Given the description of an element on the screen output the (x, y) to click on. 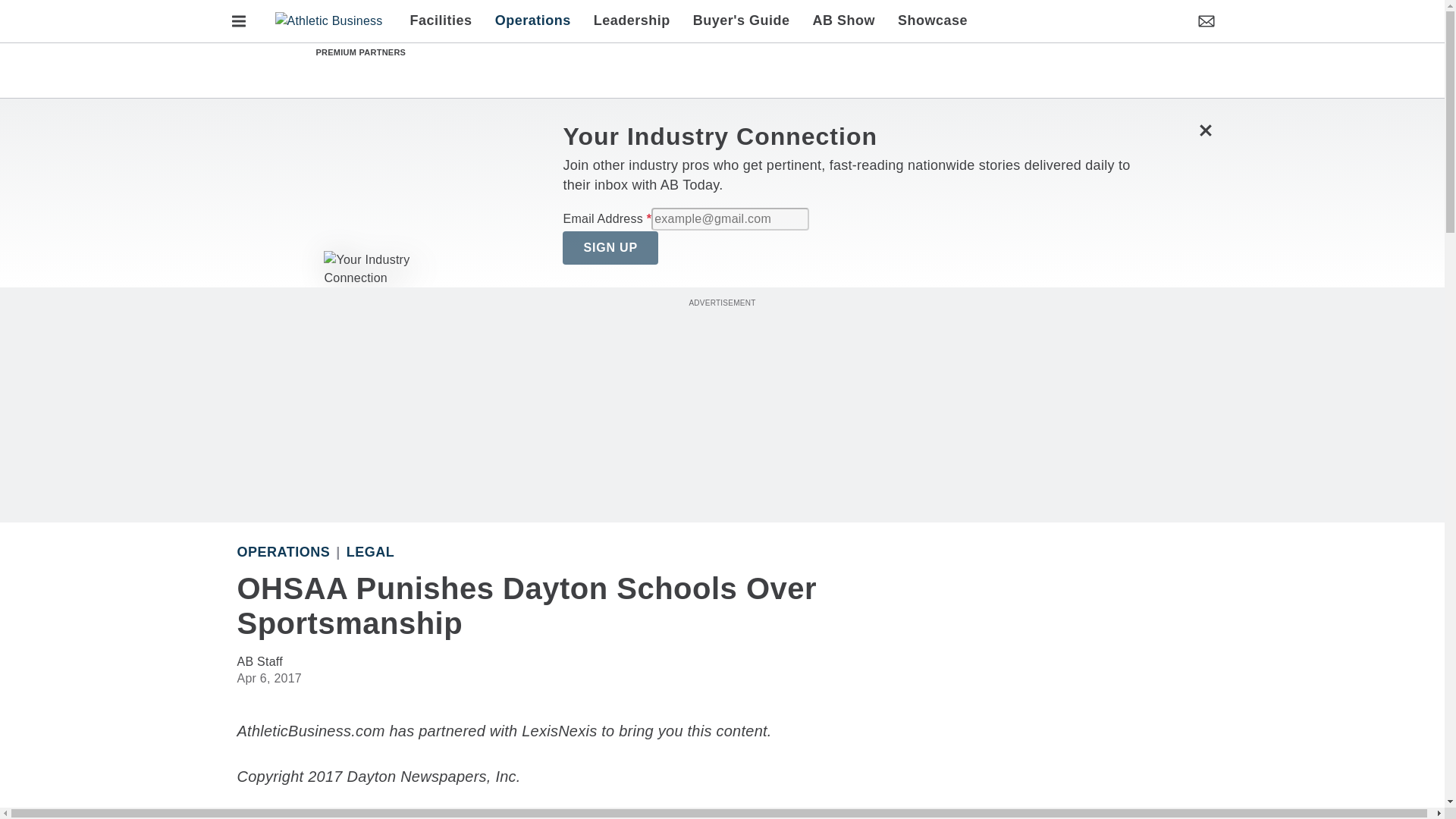
SIGN UP (610, 247)
Operations (282, 551)
Showcase (927, 21)
AB Show (844, 21)
Leadership (631, 21)
Facilities (446, 21)
Buyer's Guide (741, 21)
